Given the description of an element on the screen output the (x, y) to click on. 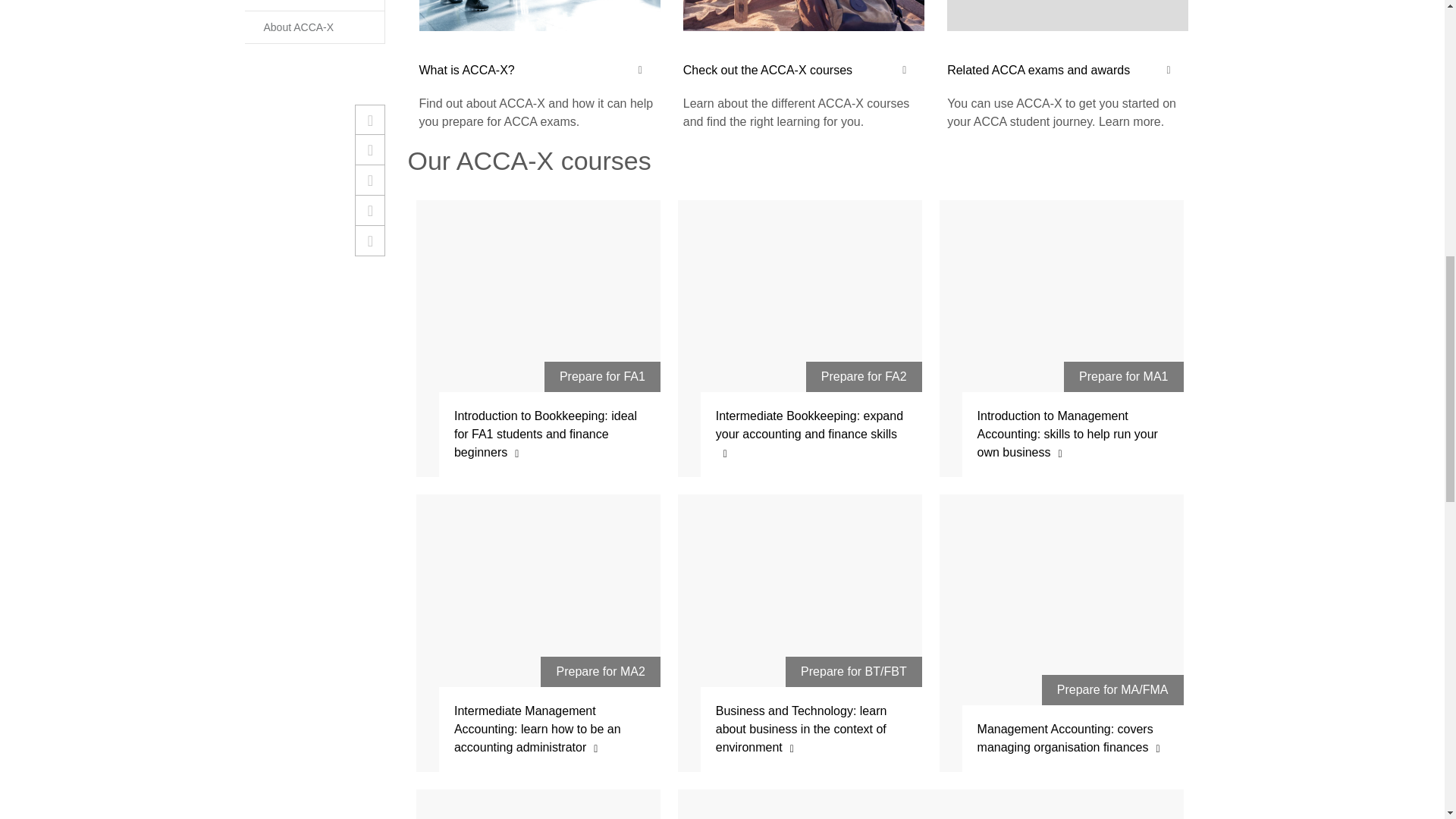
Check out the ACCA-X courses (803, 65)
What is ACCA-X? (539, 65)
Related ACCA exams and awards (1067, 65)
